Given the description of an element on the screen output the (x, y) to click on. 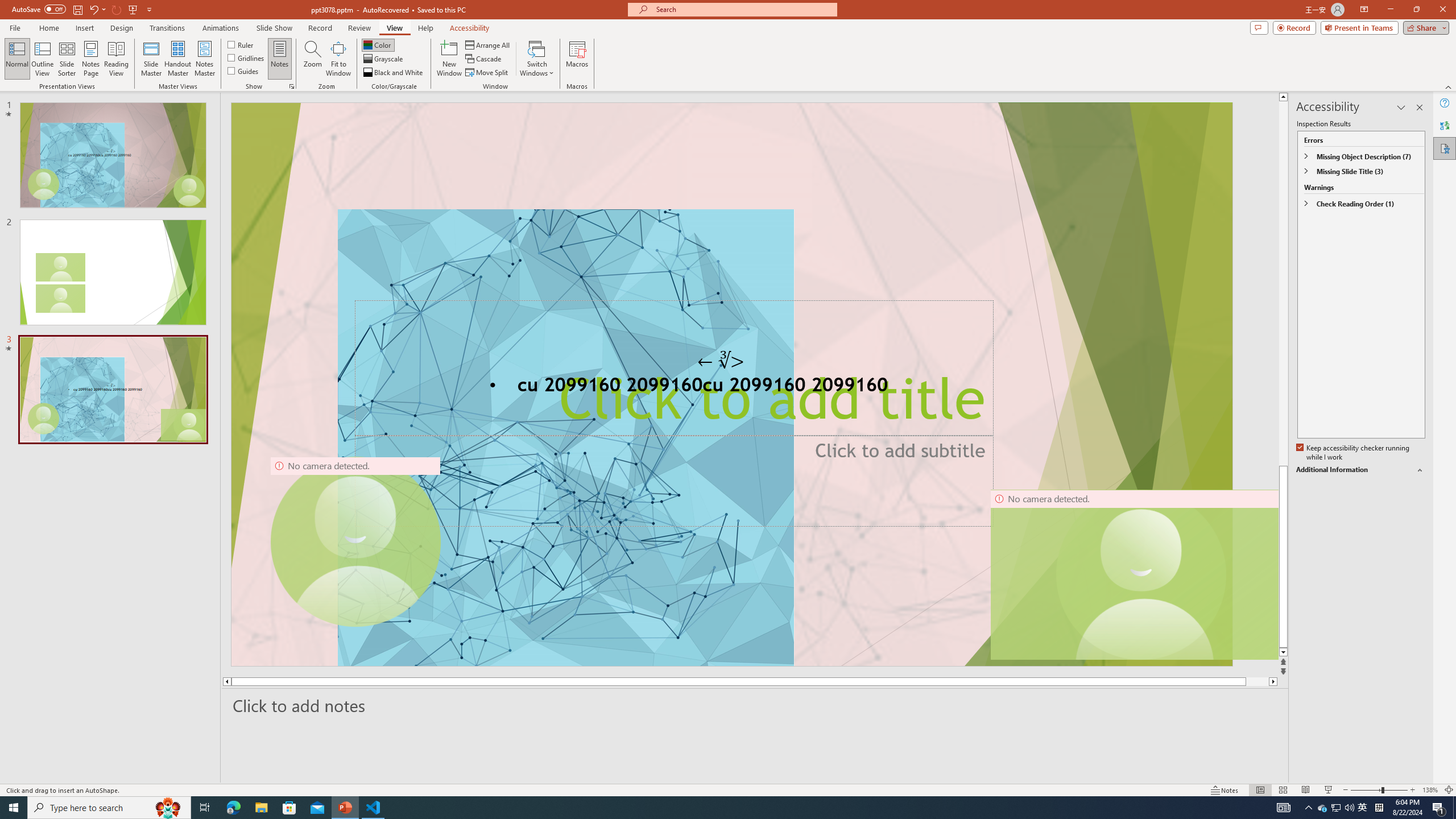
Redo (117, 9)
Ribbon Display Options (1364, 9)
File Tab (15, 27)
Reading View (1305, 790)
Title TextBox (673, 368)
Accessibility (1444, 147)
AutoSave (38, 9)
Move Split (487, 72)
Notes  (1225, 790)
Zoom 138% (1430, 790)
Zoom Out (1366, 790)
Slide (112, 389)
